Given the description of an element on the screen output the (x, y) to click on. 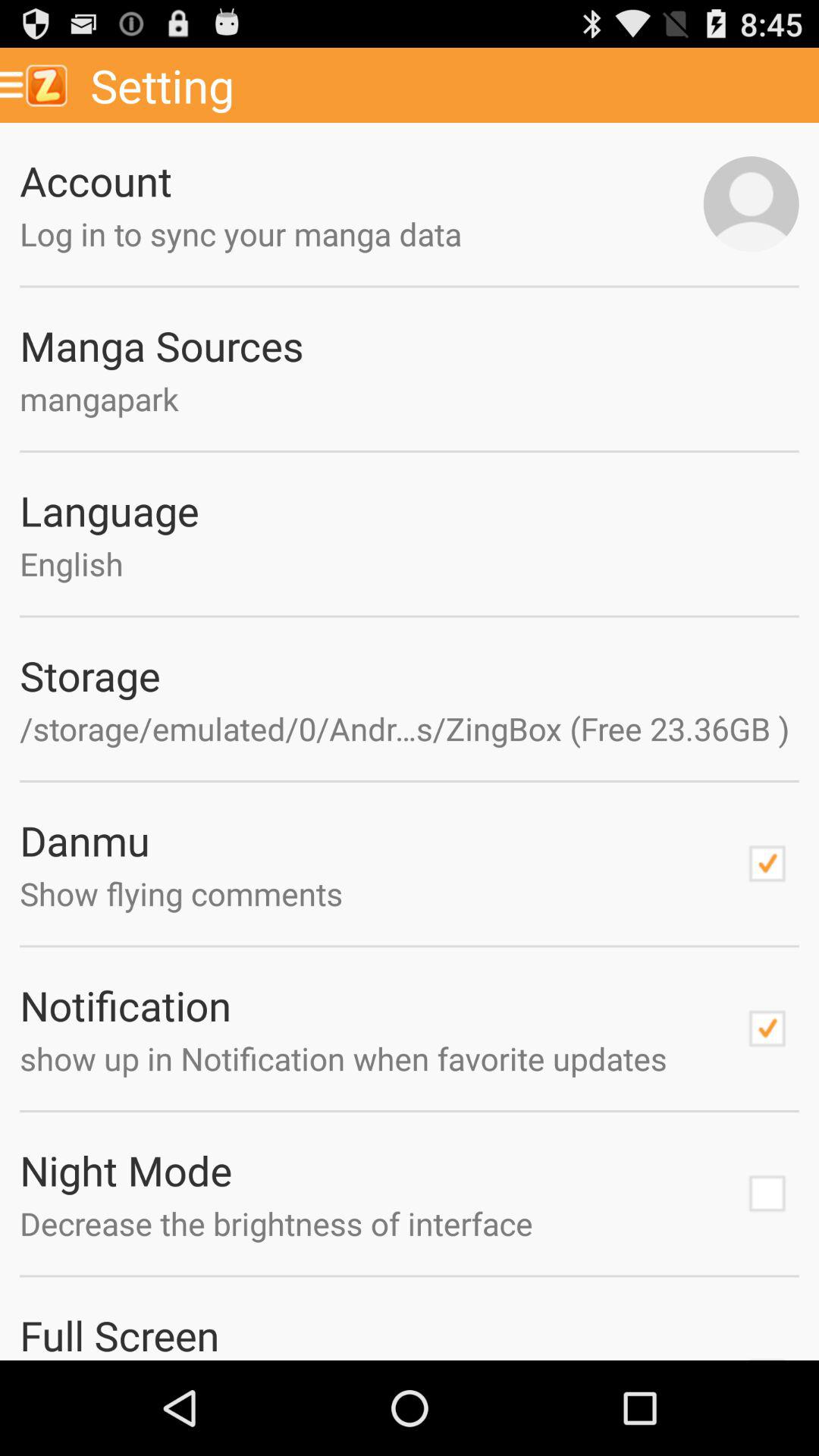
turn off item above the account app (449, 85)
